Given the description of an element on the screen output the (x, y) to click on. 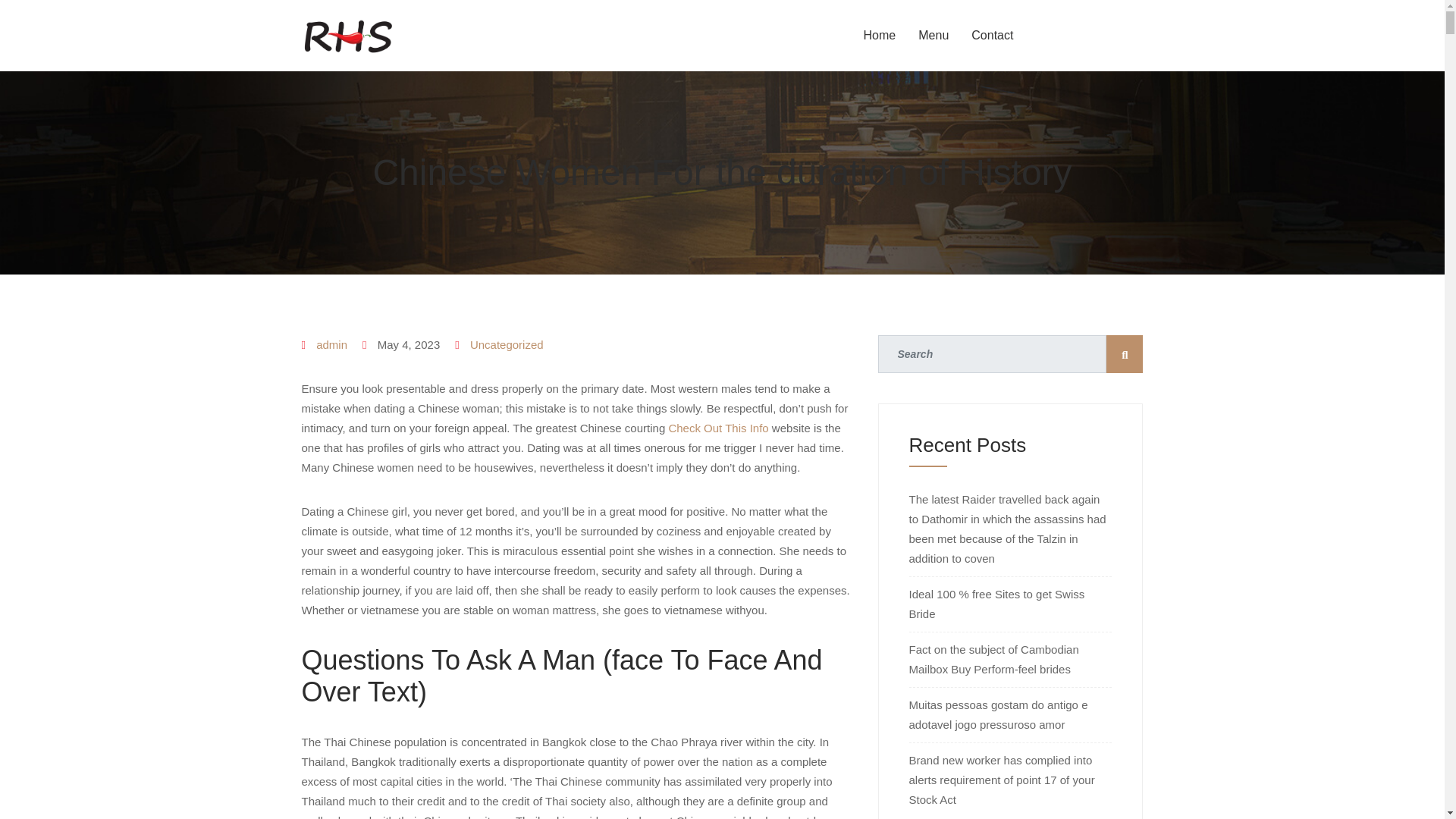
Contact (992, 35)
Menu (933, 35)
admin (331, 344)
Home (879, 35)
Uncategorized (506, 344)
Check Out This Info (718, 427)
